Given the description of an element on the screen output the (x, y) to click on. 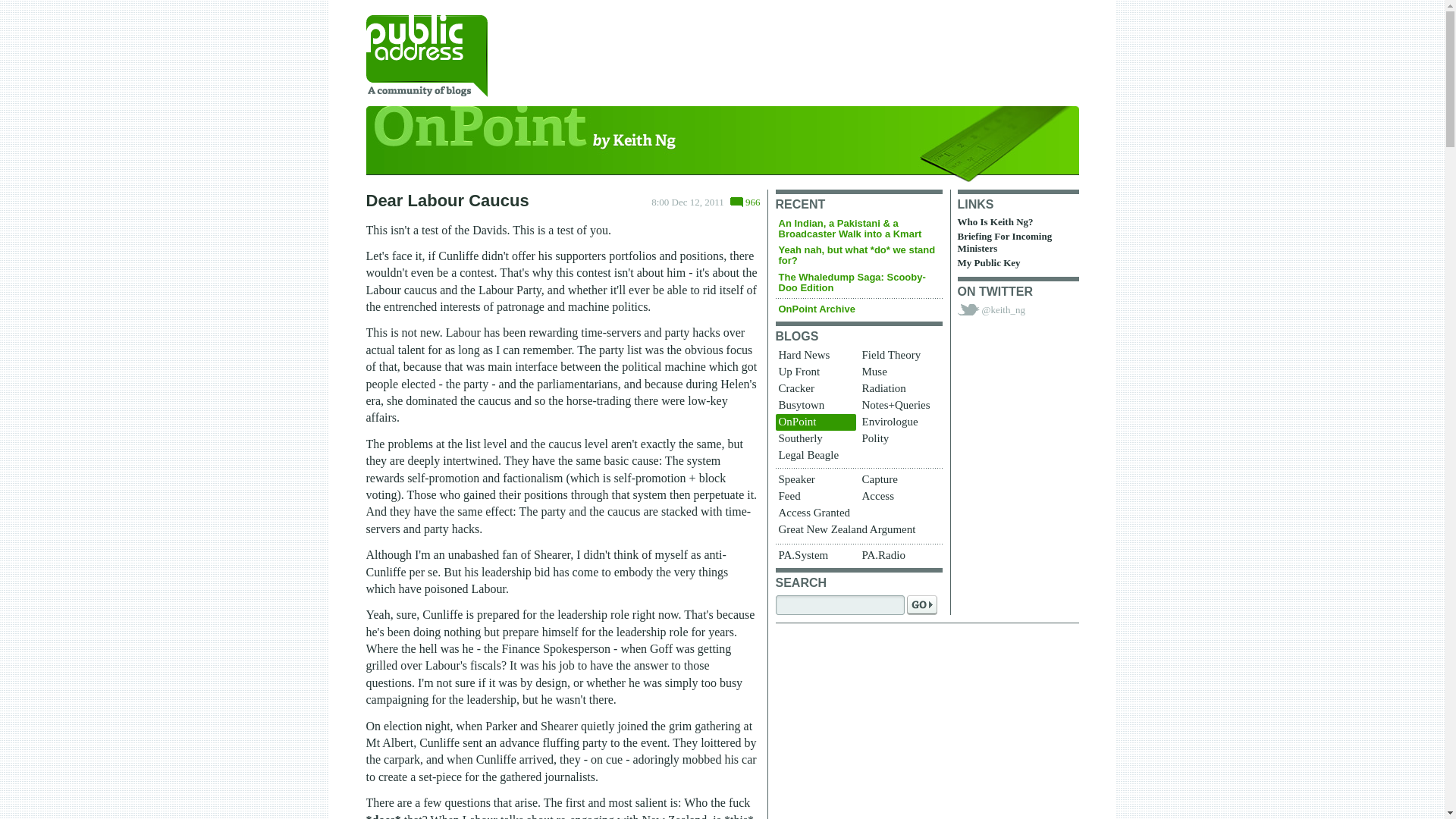
966 responses (745, 202)
Dear Labour Caucus (446, 199)
OnPoint (721, 143)
Public Address, a community of blogs (425, 56)
966 (745, 202)
